Given the description of an element on the screen output the (x, y) to click on. 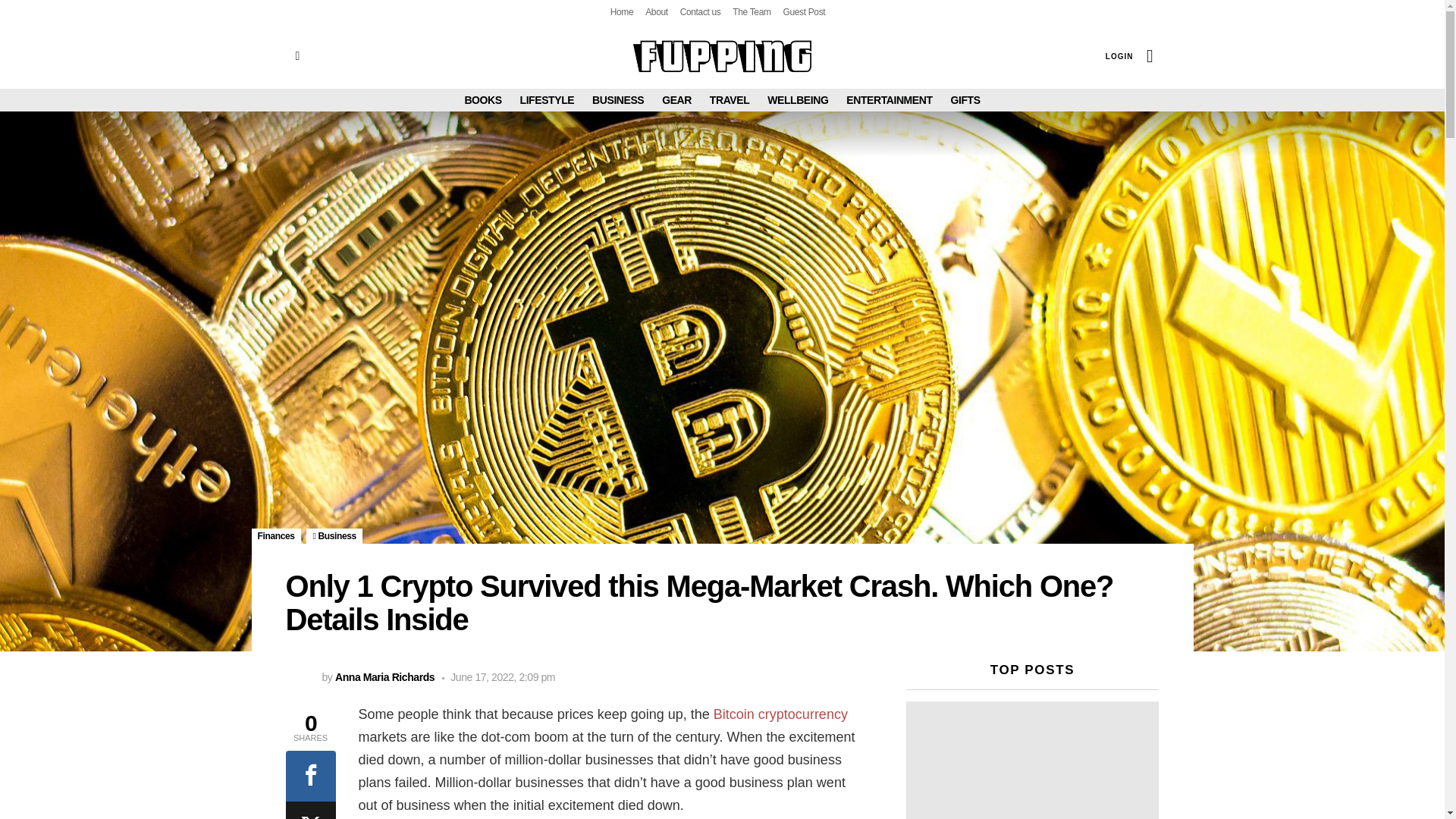
WELLBEING (797, 99)
Guest Post (804, 12)
GEAR (675, 99)
ENTERTAINMENT (888, 99)
BUSINESS (617, 99)
Home (621, 12)
Posts by Anna Maria Richards (383, 676)
BOOKS (482, 99)
Anna Maria Richards (383, 676)
Finances (276, 535)
